Given the description of an element on the screen output the (x, y) to click on. 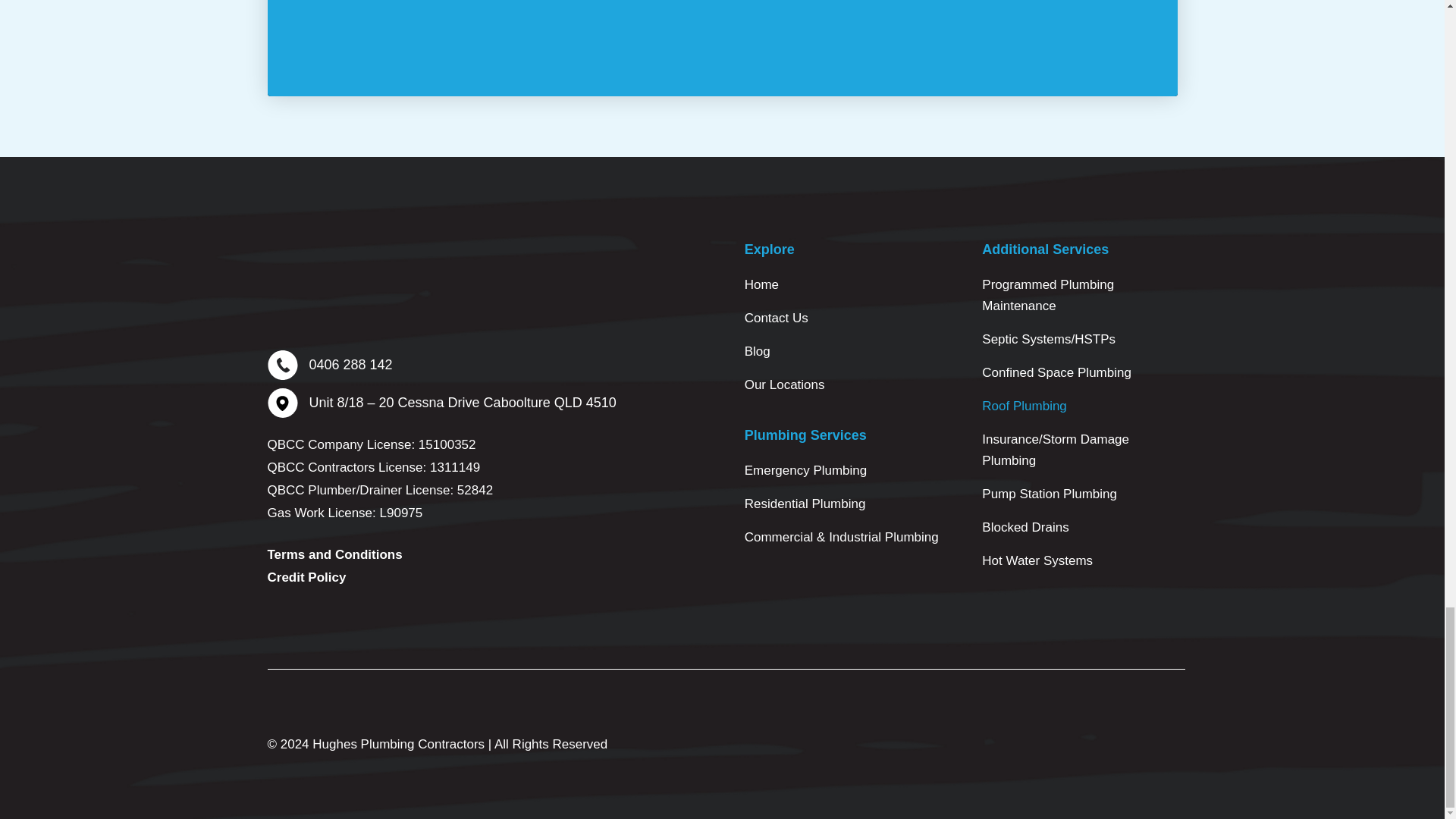
Find Us On Facebook (281, 622)
Find Us On GBP (360, 622)
www.localsearch.com.au (439, 622)
Follow Us On Instagram (320, 622)
Find Us On Linkedin (399, 622)
